Given the description of an element on the screen output the (x, y) to click on. 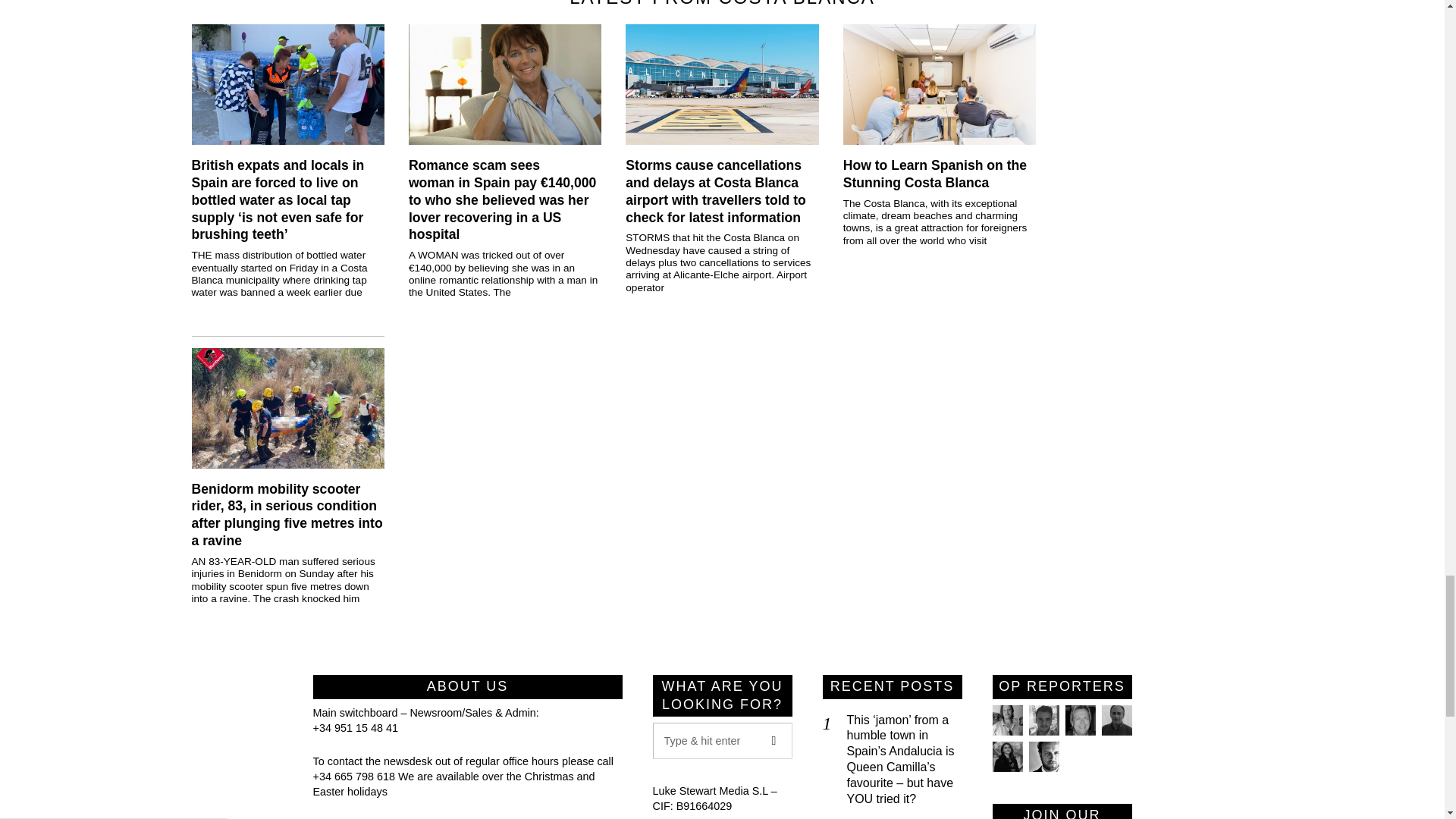
Go (773, 740)
Alex Trelinski (1079, 720)
Walter Finch (1042, 757)
Dilip Kuner (1115, 720)
Yzabelle Bostyn (1006, 757)
Laurence Dollimore (1042, 720)
